Given the description of an element on the screen output the (x, y) to click on. 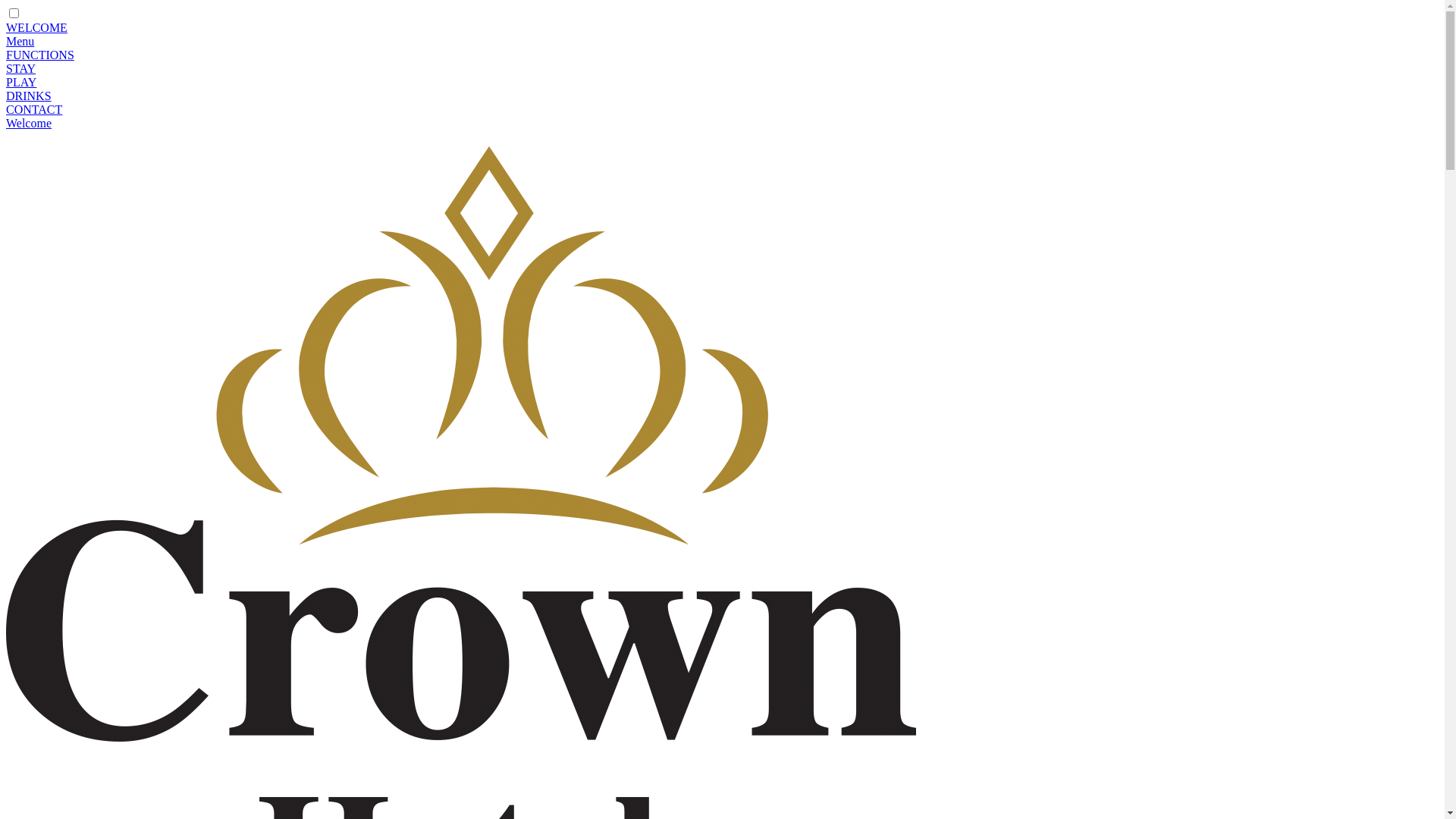
STAY Element type: text (20, 68)
Menu Element type: text (20, 40)
PLAY Element type: text (21, 81)
WELCOME Element type: text (36, 27)
FUNCTIONS Element type: text (40, 54)
Welcome Element type: text (28, 122)
DRINKS Element type: text (28, 95)
CONTACT Element type: text (34, 109)
